Given the description of an element on the screen output the (x, y) to click on. 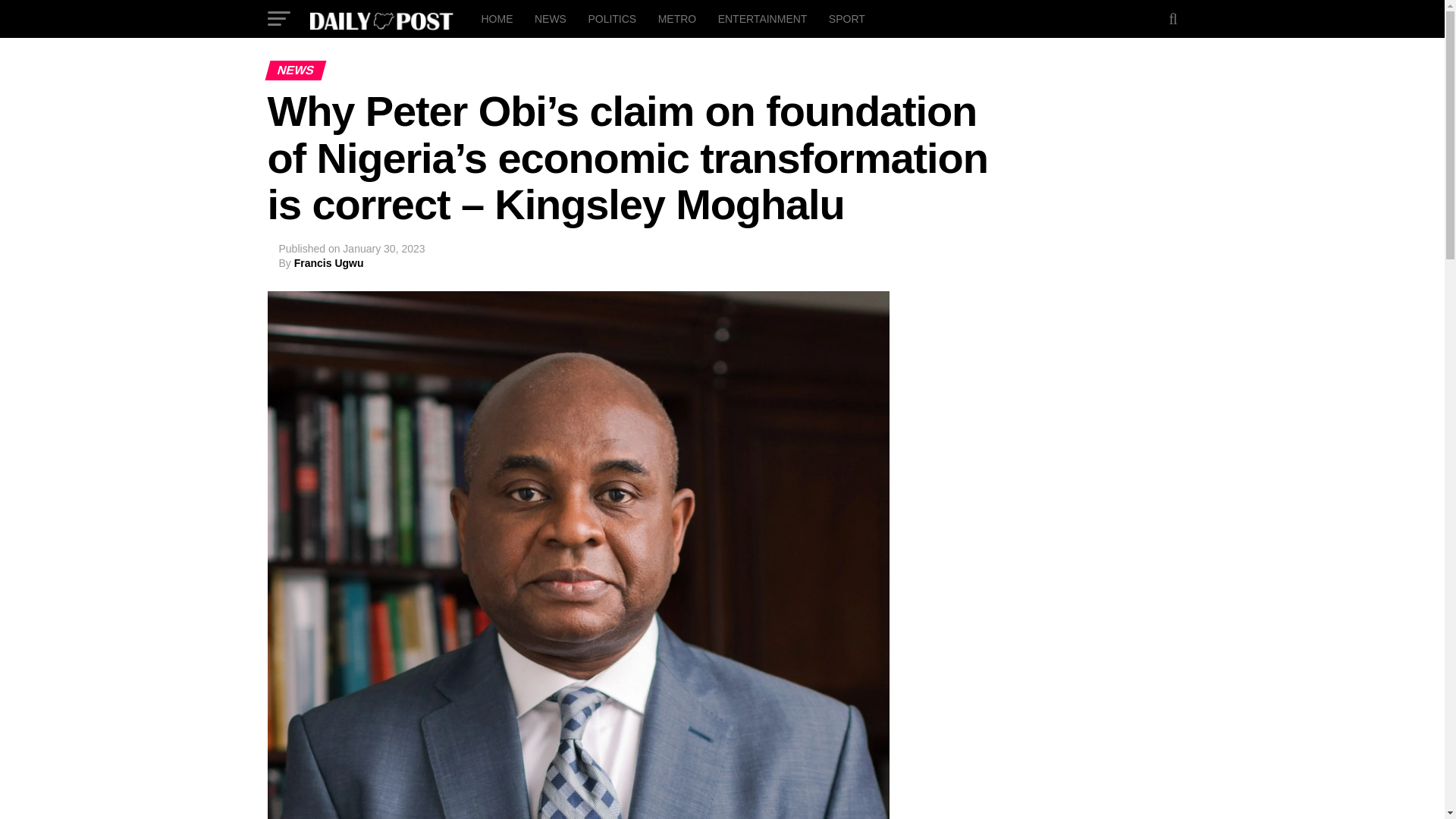
POLITICS (611, 18)
METRO (677, 18)
HOME (496, 18)
Posts by Francis Ugwu (329, 263)
ENTERTAINMENT (762, 18)
SPORT (847, 18)
NEWS (550, 18)
Francis Ugwu (329, 263)
